Given the description of an element on the screen output the (x, y) to click on. 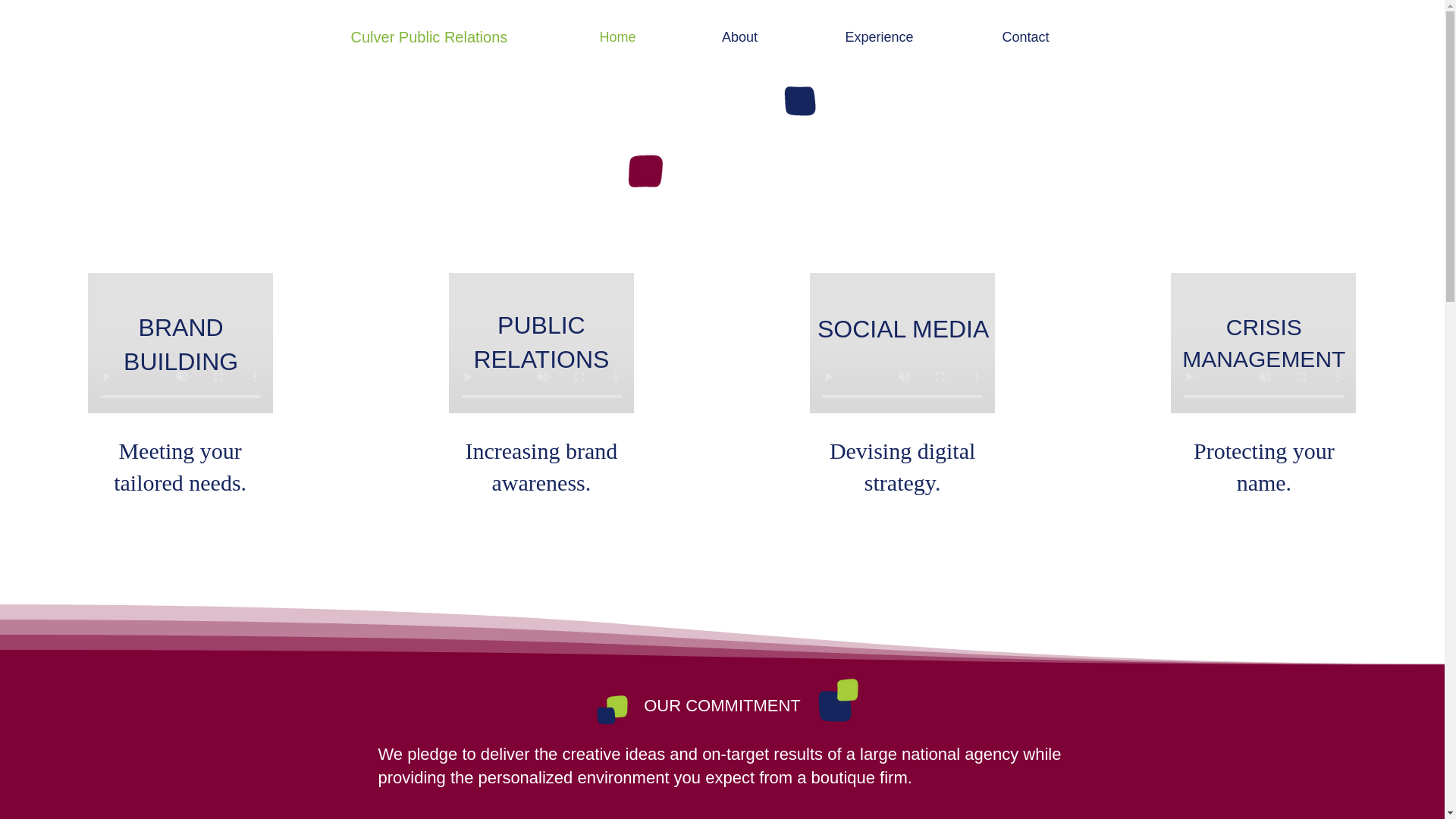
Untitled-7.png (604, 713)
Meet the Team (508, 816)
Home (617, 37)
Untitled-7.png (802, 92)
Untitled-7.png (619, 706)
Culver Public Relations (453, 36)
Untitled-7.png (849, 689)
Explore our Services (720, 816)
Contact (1024, 37)
